Given the description of an element on the screen output the (x, y) to click on. 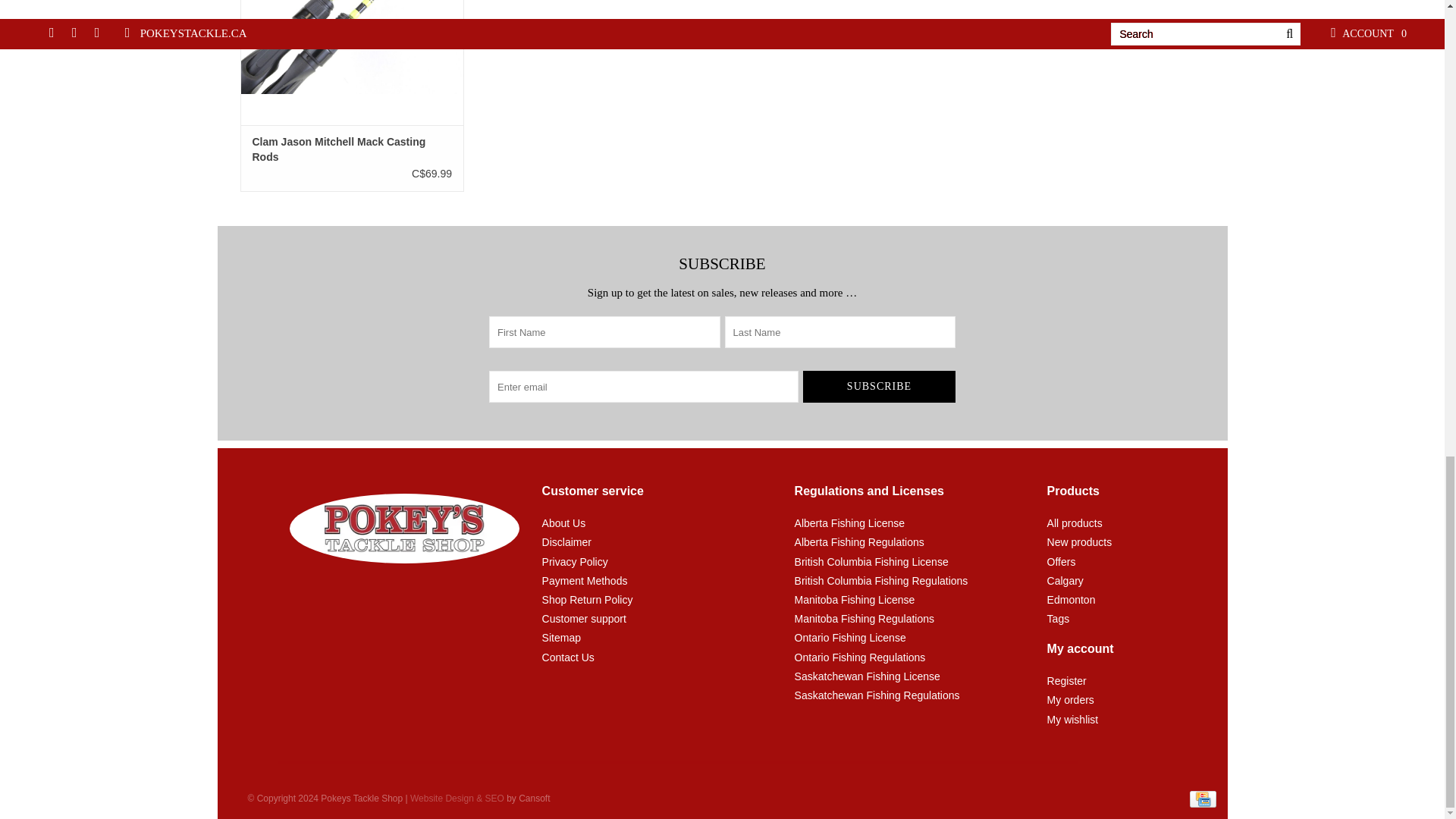
Subscribe (879, 386)
